Given the description of an element on the screen output the (x, y) to click on. 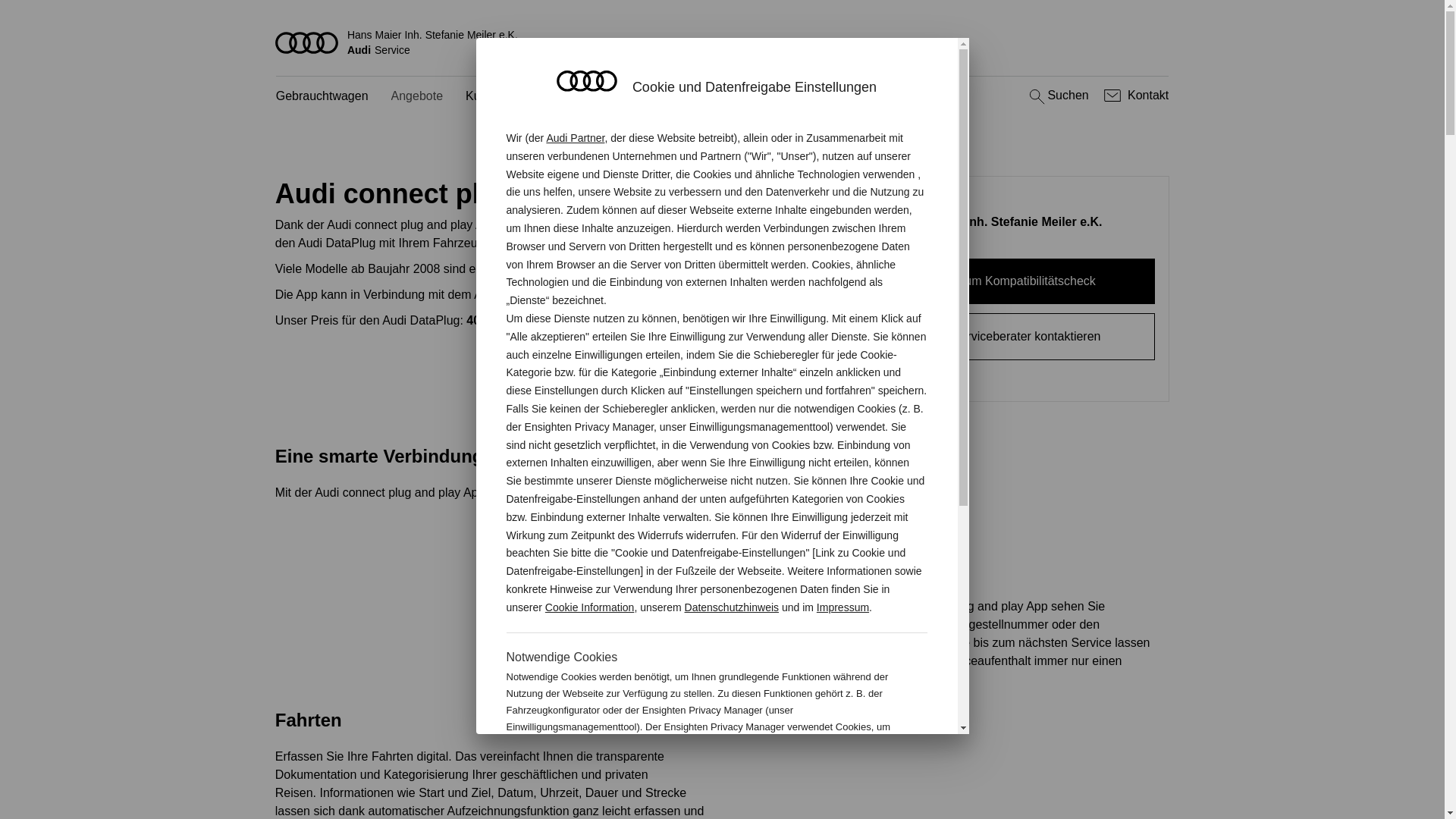
Cookie Information Element type: text (847, 776)
Impressum Element type: text (842, 607)
Cookie Information Element type: text (589, 607)
Kundenservice Element type: text (505, 96)
Serviceberater kontaktieren Element type: text (1025, 336)
Kontakt Element type: text (1134, 95)
Suchen Element type: text (1056, 95)
Datenschutzhinweis Element type: text (731, 607)
Gebrauchtwagen Element type: text (322, 96)
Audi Partner Element type: text (575, 137)
Angebote Element type: text (417, 96)
Hans Maier Inh. Stefanie Meiler e.K.
AudiService Element type: text (722, 42)
